Given the description of an element on the screen output the (x, y) to click on. 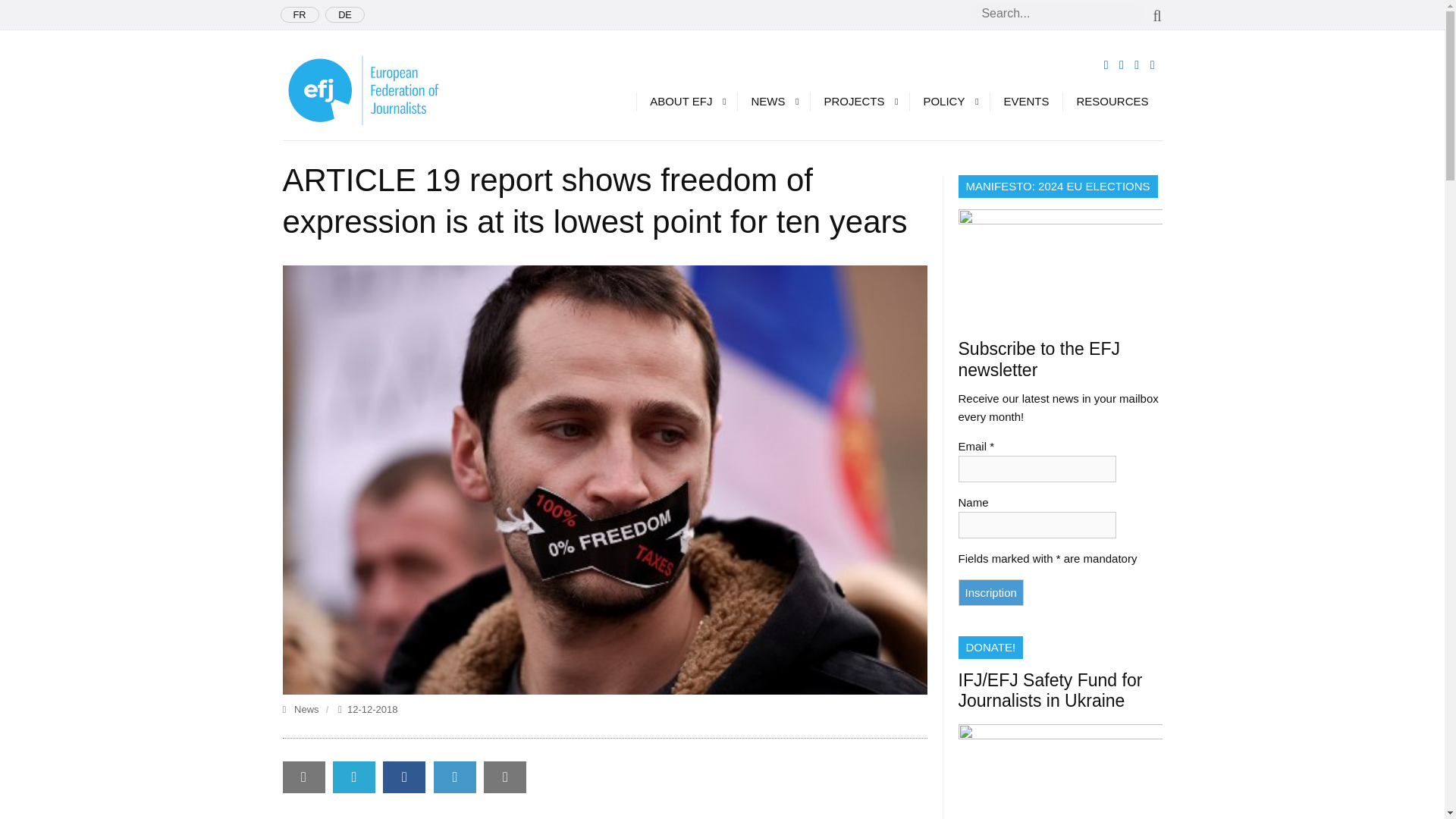
Share on LinkedIn (454, 776)
DE (344, 14)
Inscription (990, 592)
PROJECTS (858, 100)
ABOUT EFJ (686, 100)
NEWS (772, 100)
FR (299, 14)
Share on Facebook (403, 777)
Print this page (504, 776)
Share by e-mail (303, 776)
